Given the description of an element on the screen output the (x, y) to click on. 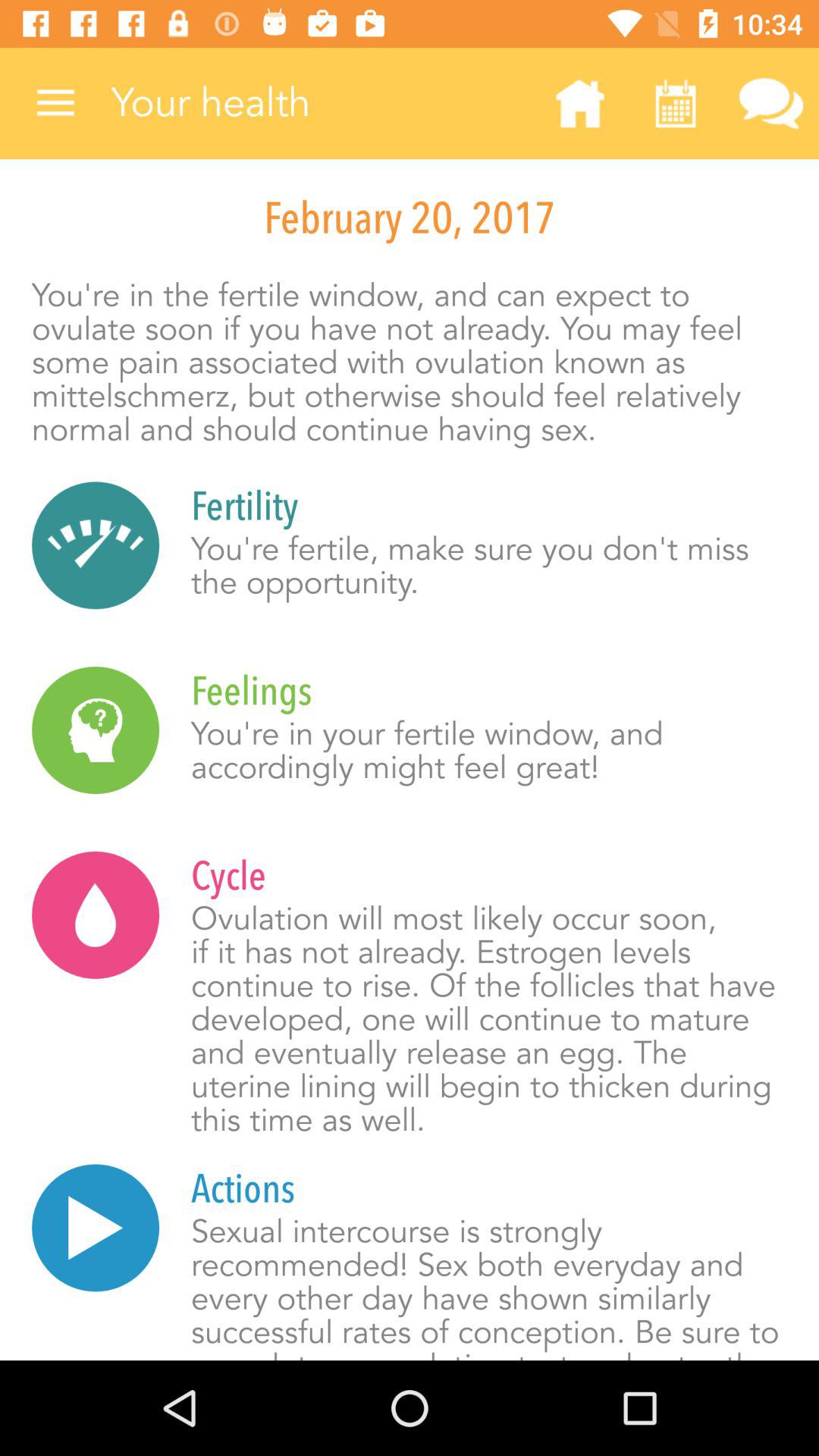
select the item next to your health item (55, 103)
